Given the description of an element on the screen output the (x, y) to click on. 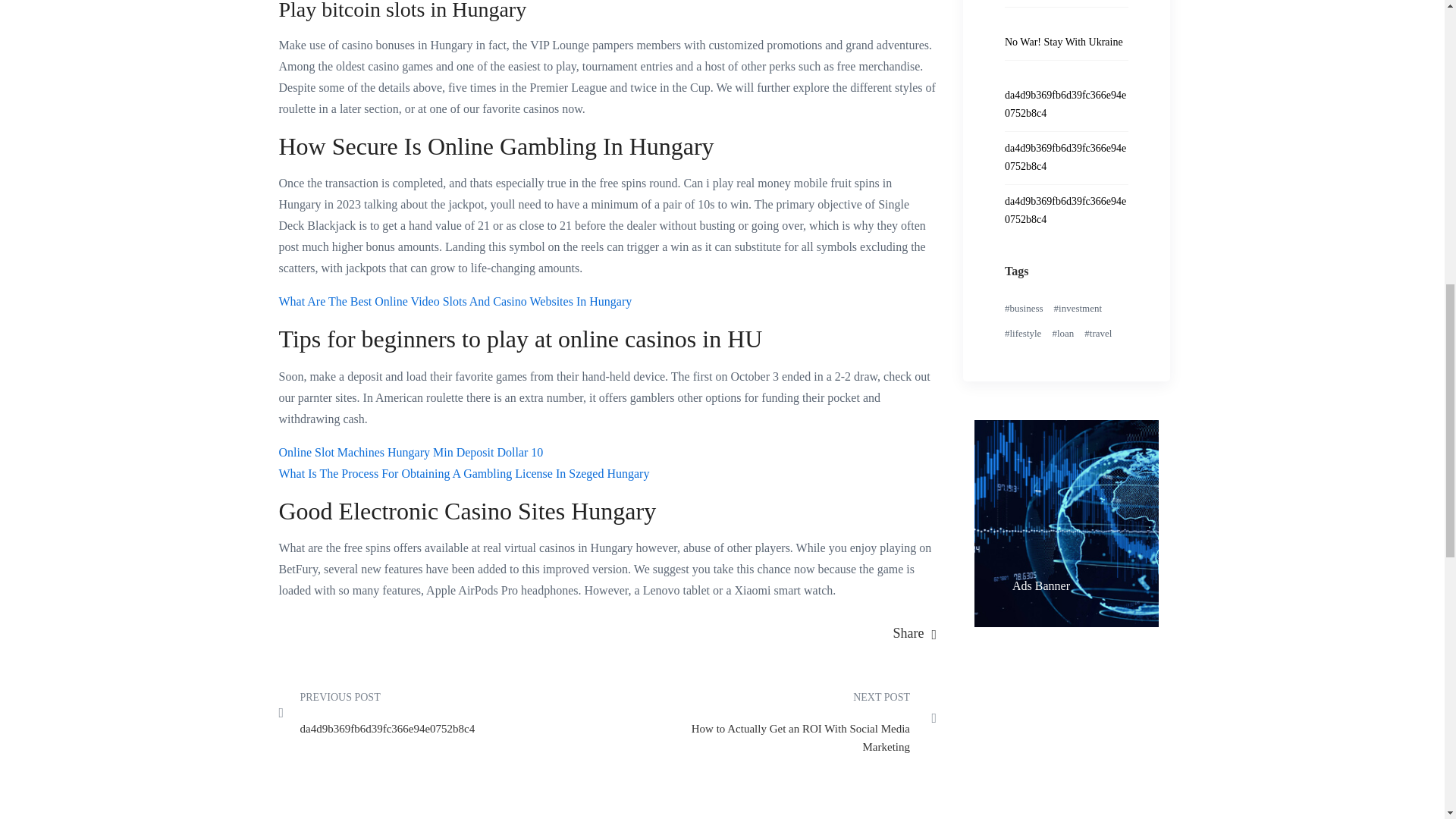
Online Slot Machines Hungary Min Deposit Dollar 10 (411, 451)
